Given the description of an element on the screen output the (x, y) to click on. 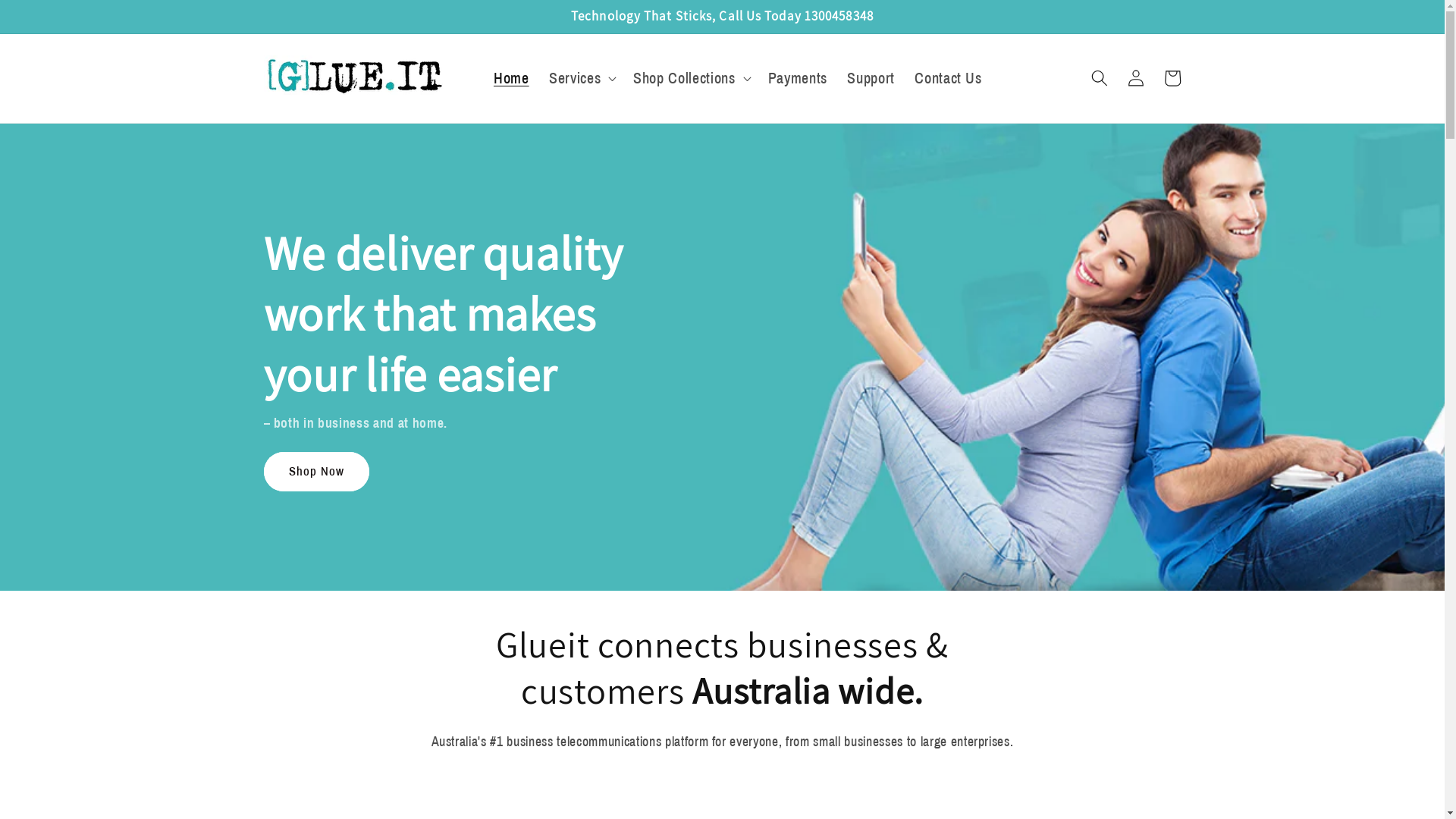
Shop Now Element type: text (316, 471)
Cart Element type: text (1172, 77)
Support Element type: text (870, 78)
Contact Us Element type: text (947, 78)
Log in Element type: text (1135, 77)
Payments Element type: text (797, 78)
Home Element type: text (511, 78)
